Given the description of an element on the screen output the (x, y) to click on. 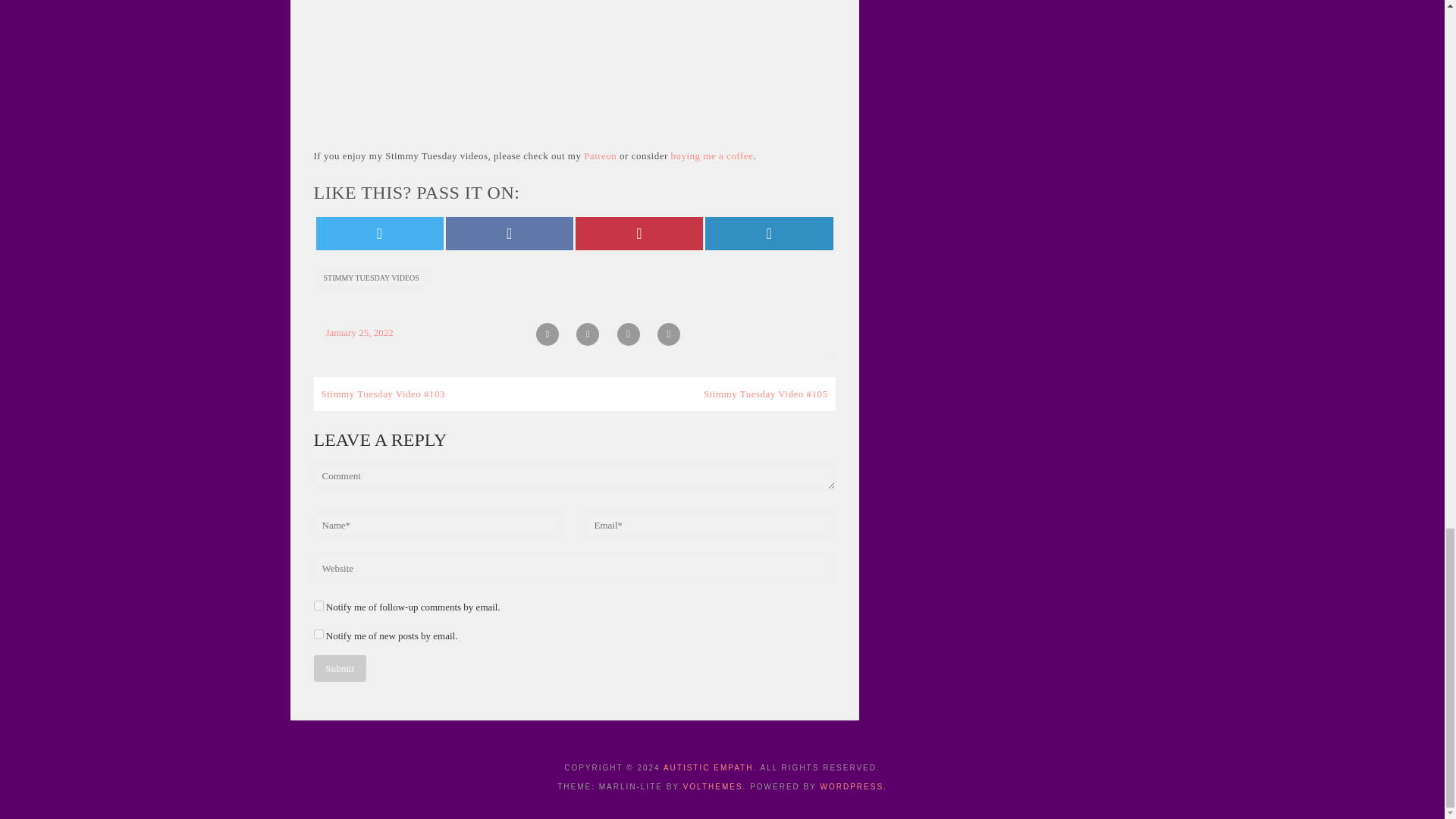
subscribe (318, 605)
Share on Pinterest (639, 233)
WORDPRESS (852, 786)
Autistic Empath (708, 767)
subscribe (318, 634)
Submit (340, 668)
WordPress (852, 786)
STIMMY TUESDAY VIDEOS (371, 277)
VOLTHEMES (712, 786)
January 25, 2022 (359, 332)
Share on Twitter (378, 233)
AUTISTIC EMPATH (708, 767)
VolThemes (712, 786)
buying me a coffee (710, 155)
Share on LinkedIn (768, 233)
